Given the description of an element on the screen output the (x, y) to click on. 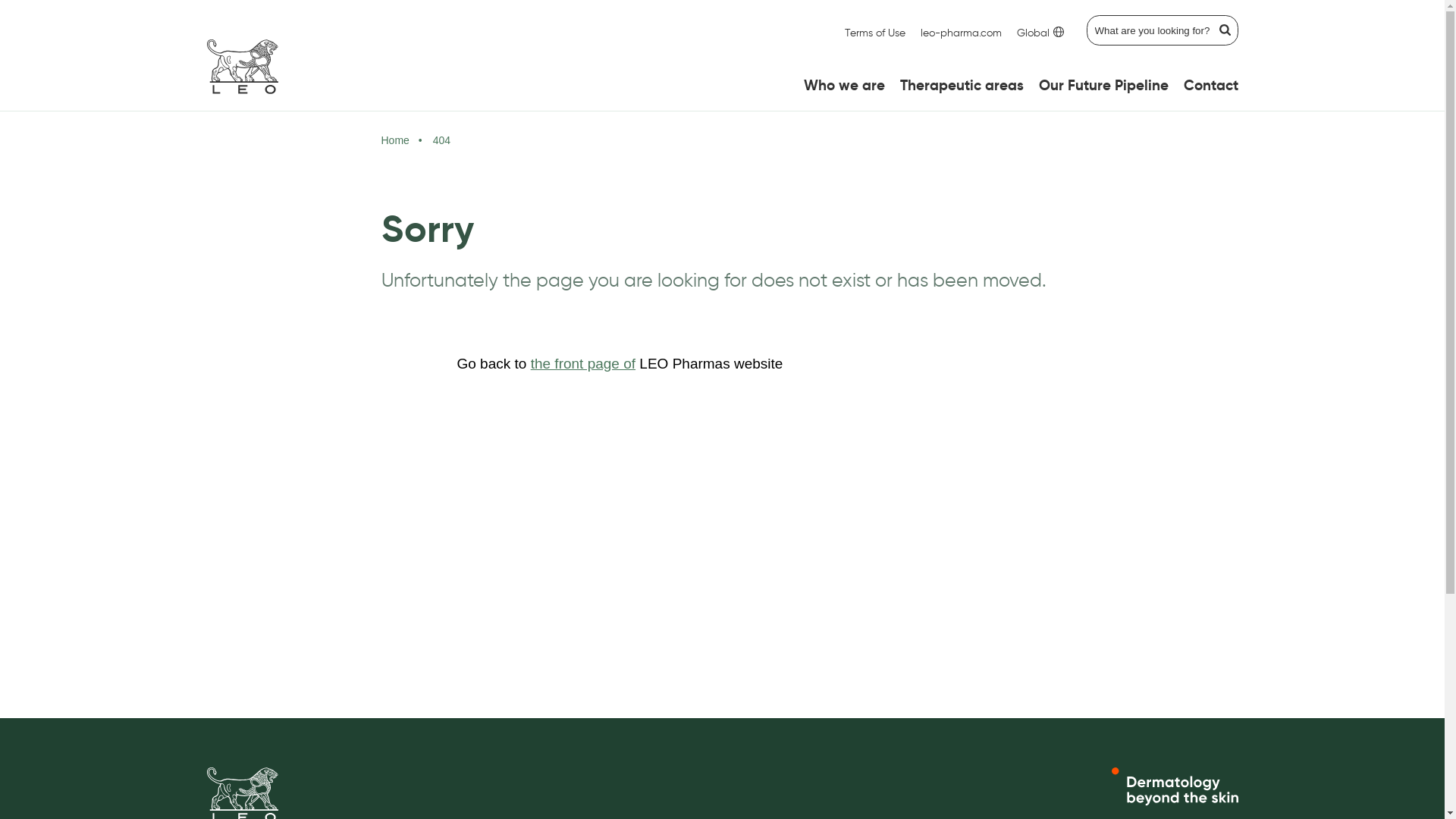
Home Element type: text (394, 140)
the front page of Element type: text (582, 363)
Global Element type: text (1039, 33)
Contact Element type: text (1210, 85)
Terms of Use Element type: text (874, 33)
LinkedIn Element type: text (1200, 659)
YouTube Element type: text (1200, 707)
Therapeutic areas Element type: text (960, 85)
Facebook Element type: text (1204, 683)
- Element type: text (241, 66)
leo-pharma.com Element type: text (960, 33)
Who we are Element type: text (843, 85)
Our Future Pipeline Element type: text (1103, 85)
Twitter Element type: text (1193, 635)
